Given the description of an element on the screen output the (x, y) to click on. 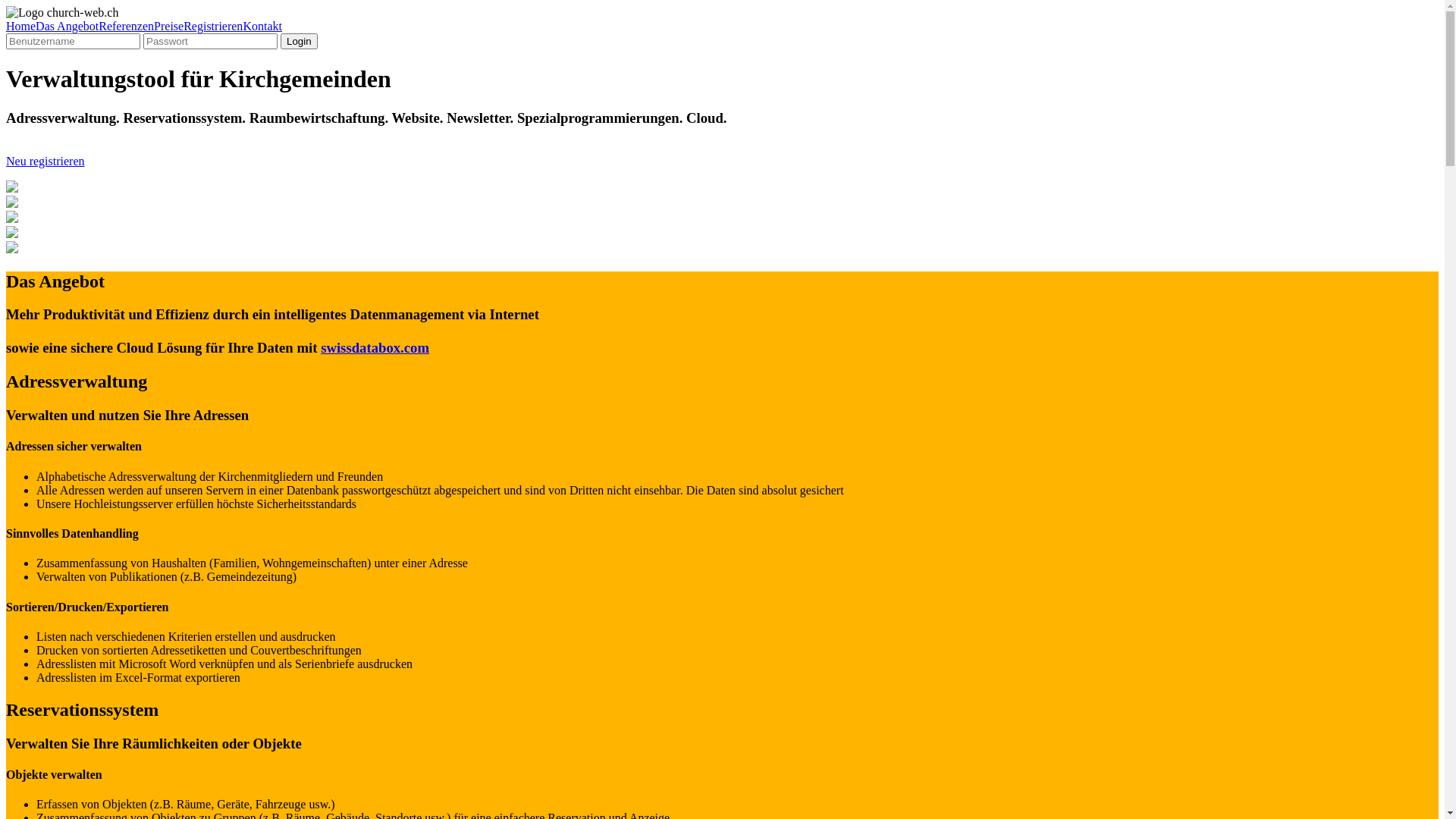
Neu registrieren Element type: text (45, 160)
Registrieren Element type: text (212, 25)
swissdatabox.com Element type: text (374, 347)
Preise Element type: text (168, 25)
Kontakt Element type: text (262, 25)
Login Element type: text (298, 41)
Home Element type: text (20, 25)
Das Angebot Element type: text (66, 25)
Referenzen Element type: text (125, 25)
